Given the description of an element on the screen output the (x, y) to click on. 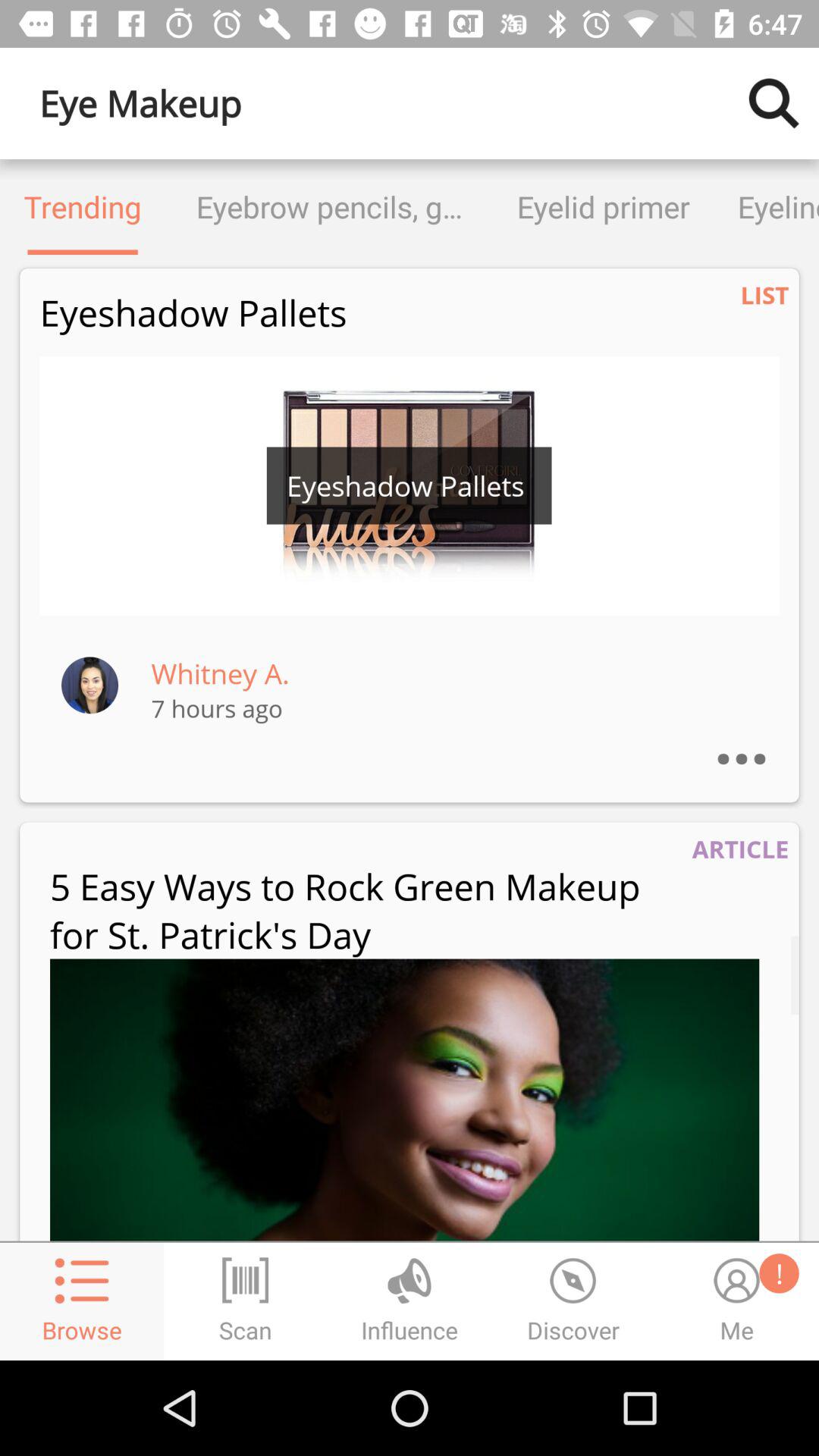
open the icon above article item (756, 738)
